Given the description of an element on the screen output the (x, y) to click on. 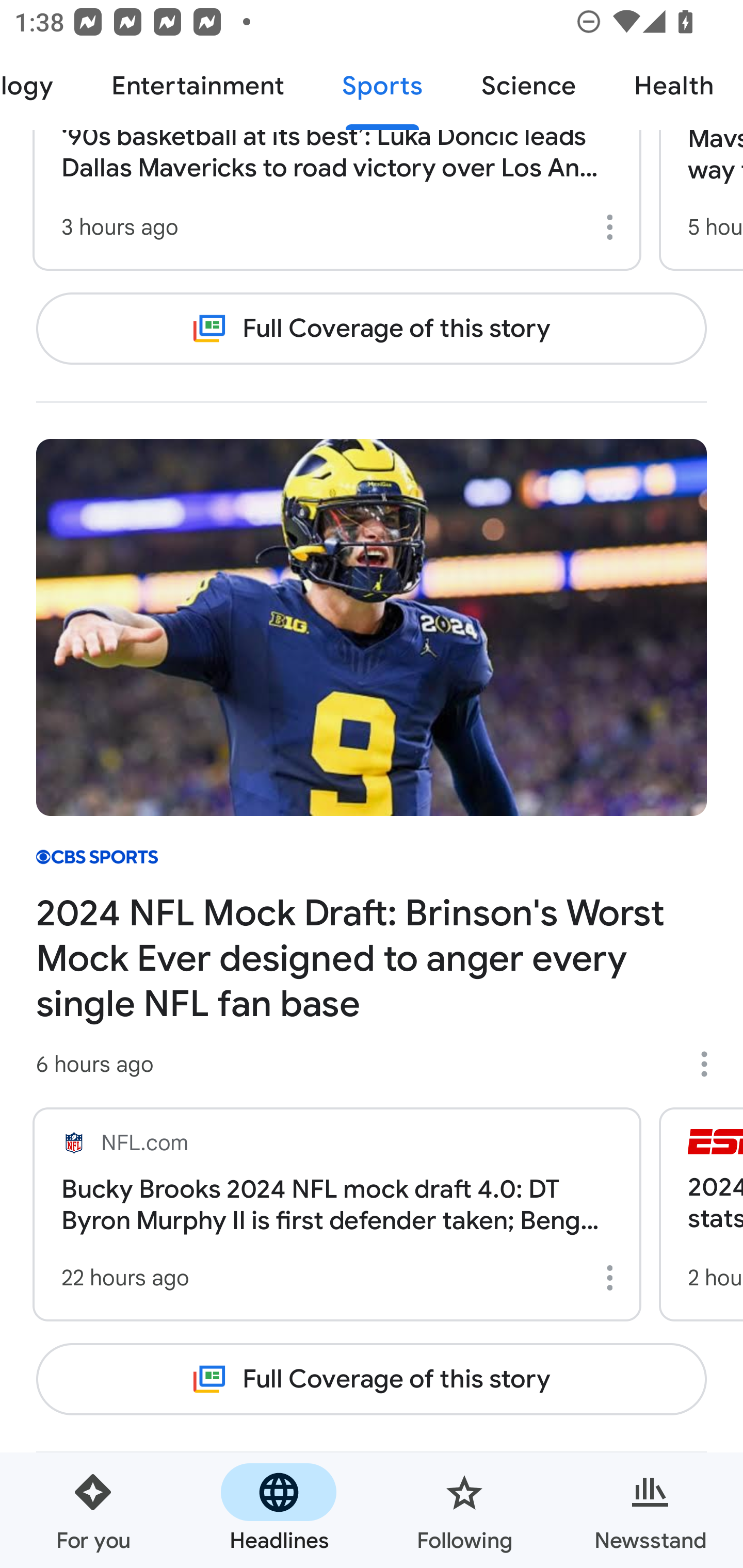
Technology (40, 86)
Entertainment (197, 86)
Science (527, 86)
Health (673, 86)
More options (613, 227)
Full Coverage of this story (371, 329)
More options (711, 1063)
More options (613, 1277)
Full Coverage of this story (371, 1379)
For you (92, 1509)
Headlines (278, 1509)
Following (464, 1509)
Newsstand (650, 1509)
